Given the description of an element on the screen output the (x, y) to click on. 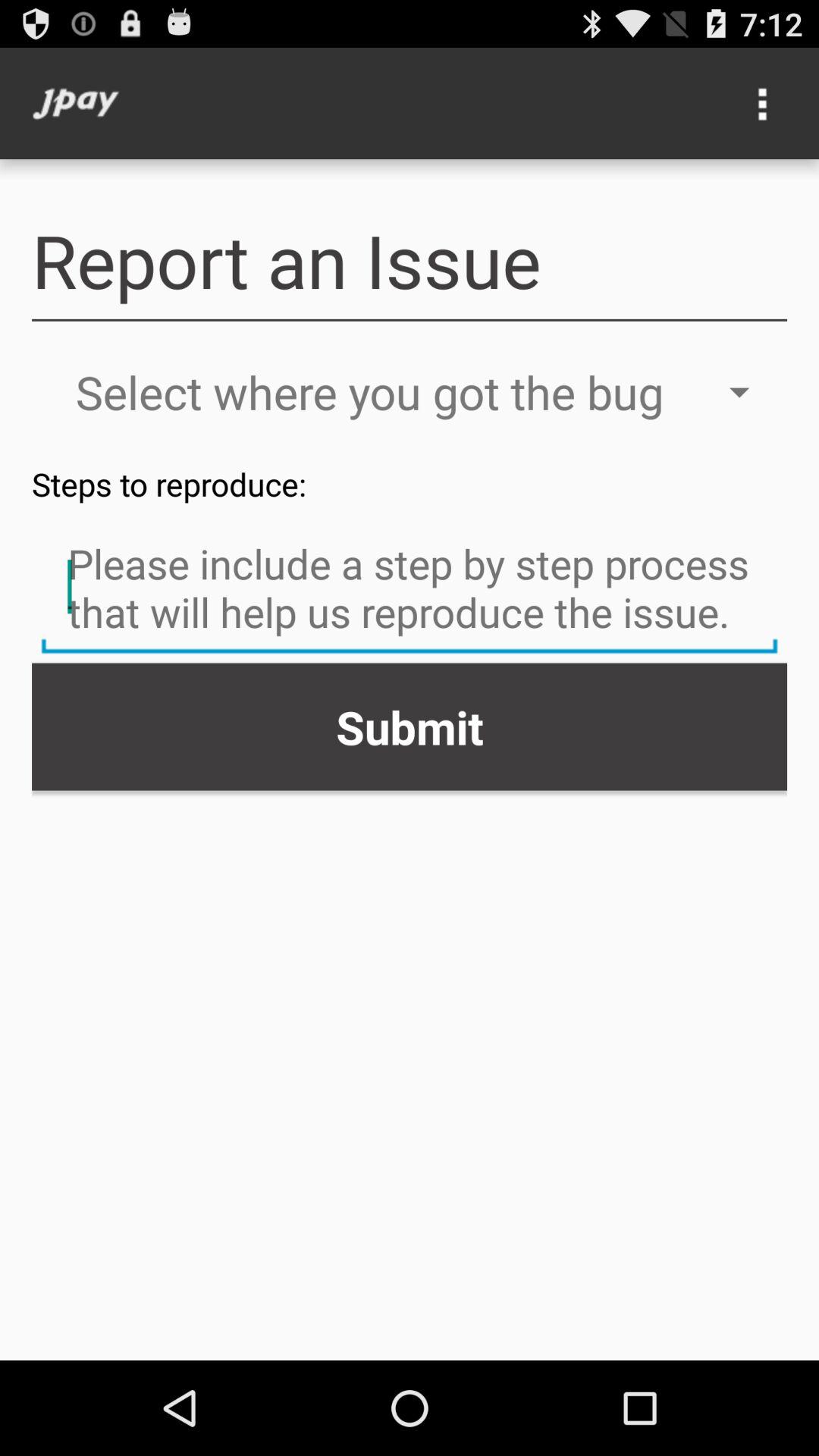
description (409, 589)
